Given the description of an element on the screen output the (x, y) to click on. 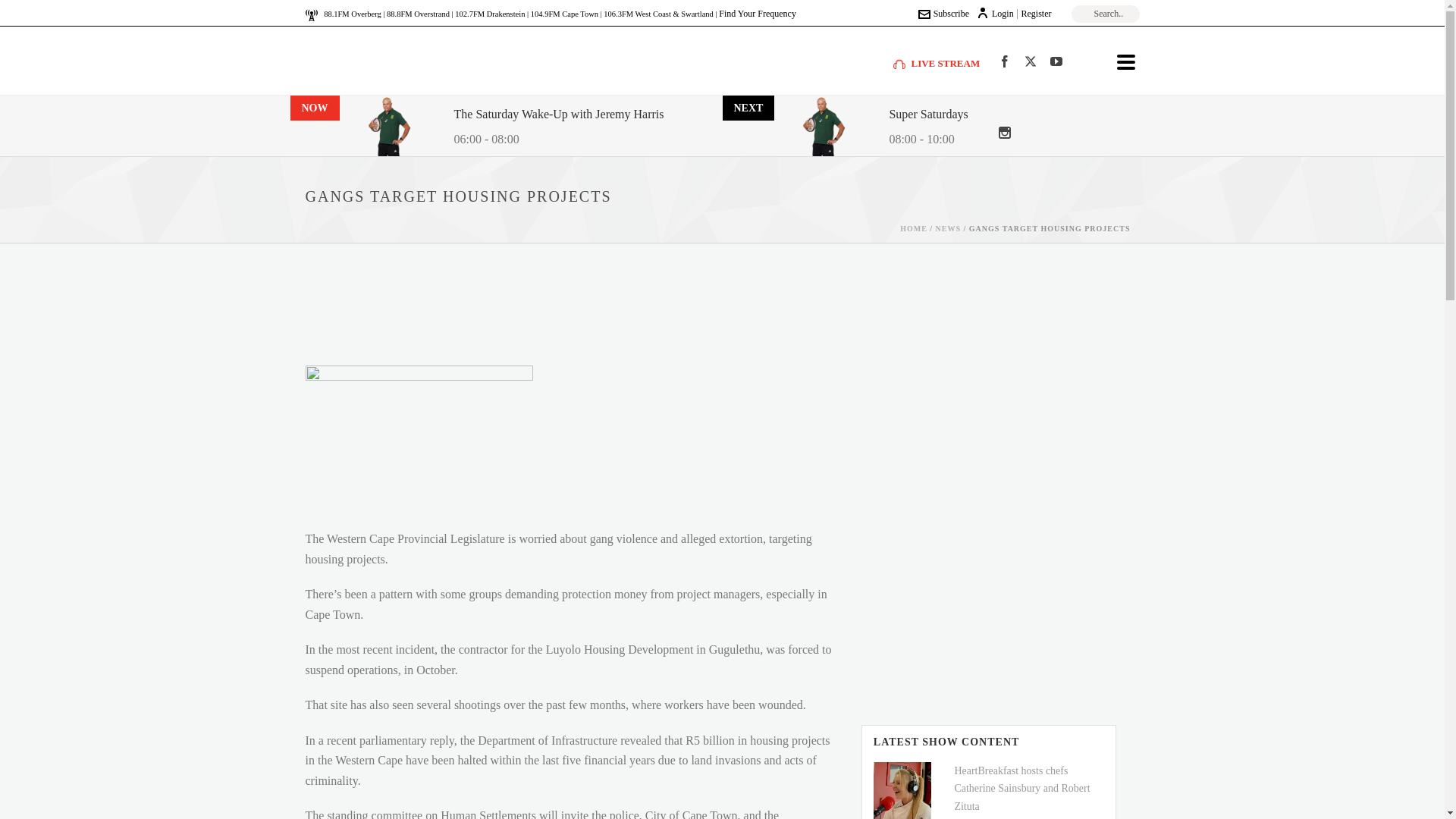
3rd party ad content (986, 599)
Login (994, 13)
3rd party ad content (711, 308)
The Saturday Wake-Up with Jeremy Harris (557, 114)
LIVE STREAM (936, 62)
Register (1035, 13)
NEWS (948, 228)
Subscribe (943, 13)
HOME (913, 228)
Find Your Frequency (757, 13)
Super Saturdays (928, 114)
LIVE STREAM (936, 62)
